Given the description of an element on the screen output the (x, y) to click on. 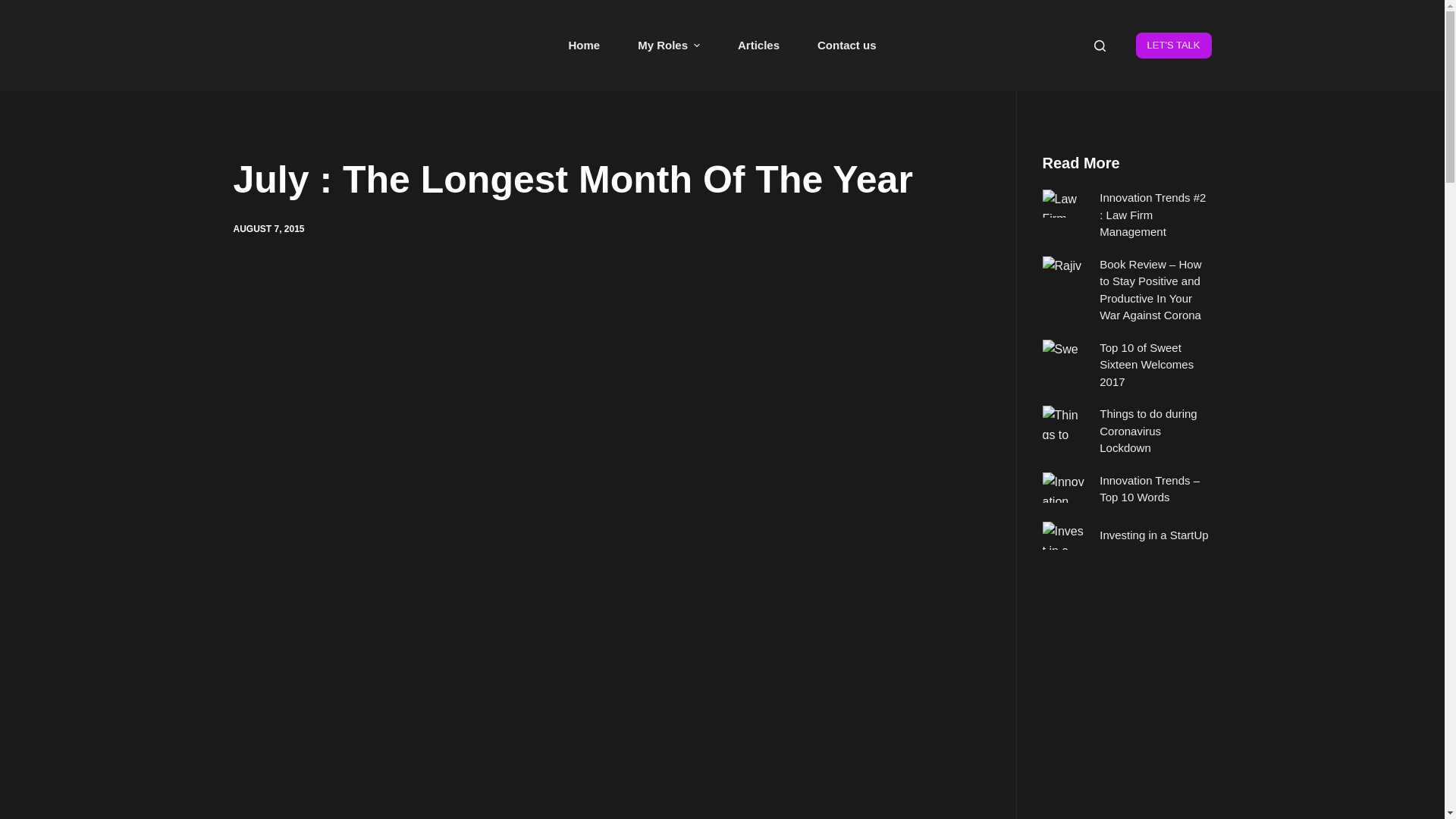
My Roles (668, 45)
Skip to content (15, 7)
LET'S TALK (1173, 45)
July : The Longest Month Of The Year (609, 179)
Contact us (846, 45)
Home (583, 45)
Articles (758, 45)
